Given the description of an element on the screen output the (x, y) to click on. 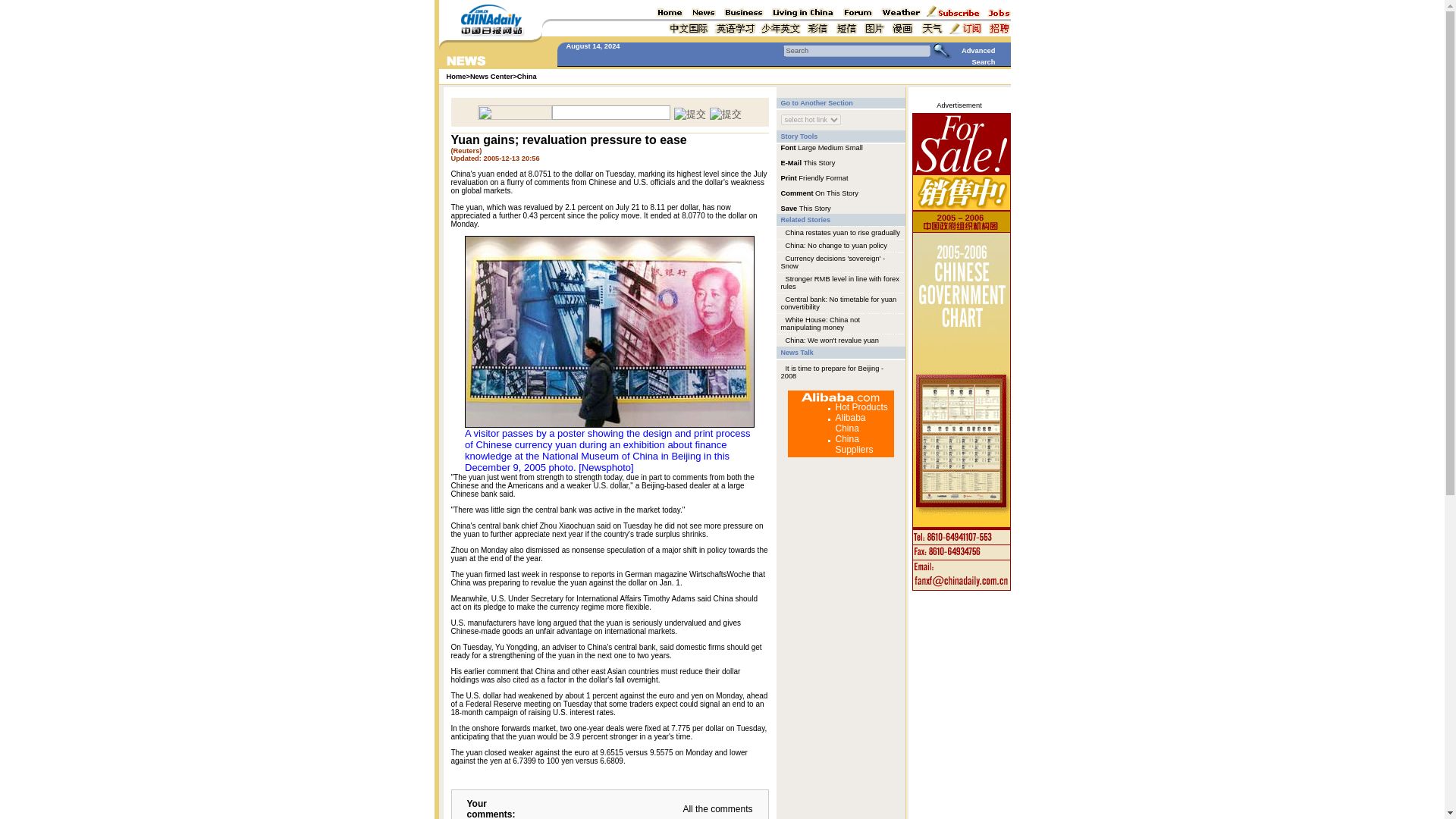
China (526, 76)
China restates yuan to rise gradually (842, 232)
Large (806, 147)
Alibaba China (850, 423)
China Suppliers (854, 444)
White House: China not manipulating money (820, 323)
Alibaba China (850, 423)
Medium (830, 147)
Comment On This Story (819, 192)
News Center (491, 76)
